Given the description of an element on the screen output the (x, y) to click on. 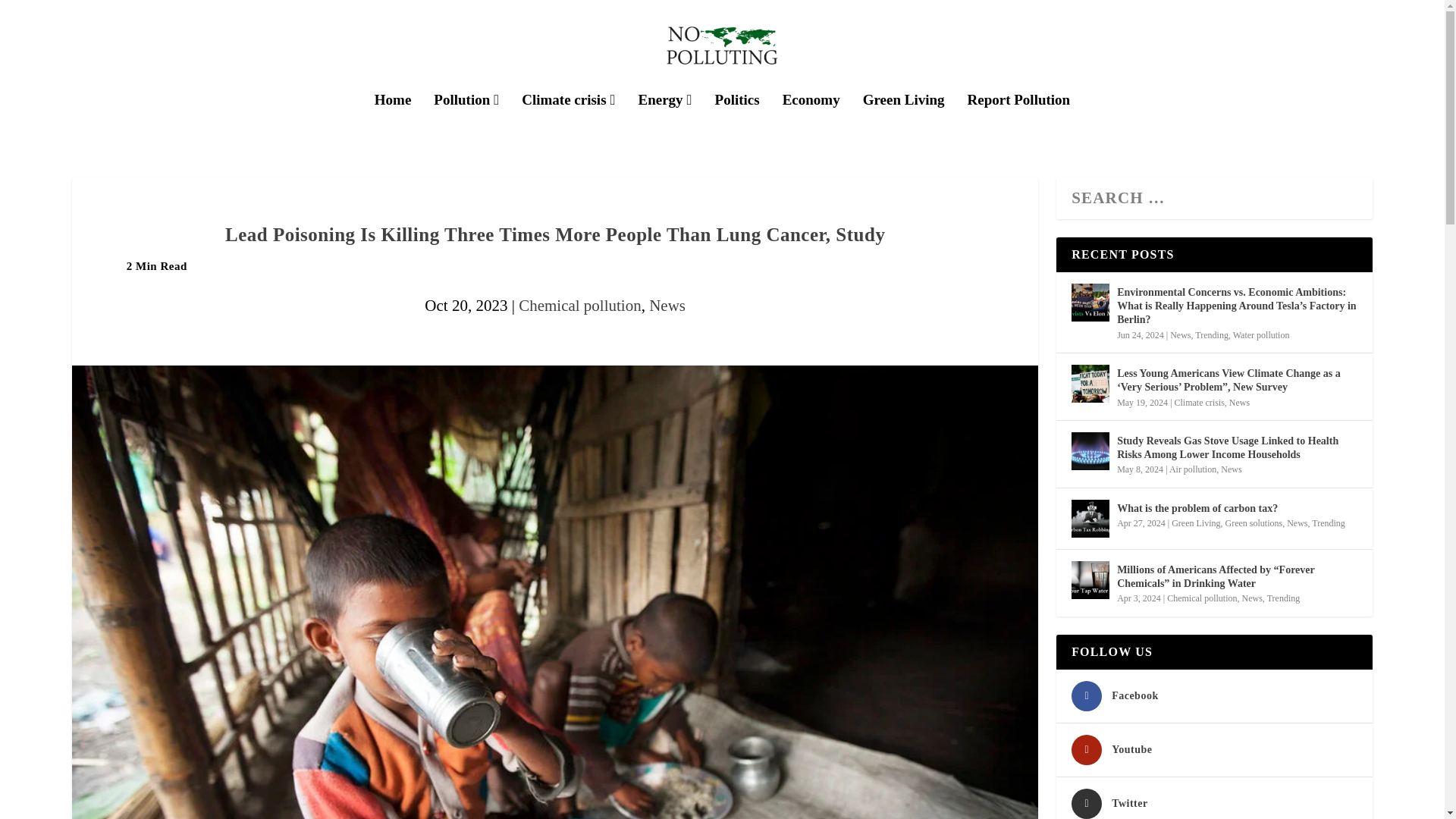
Energy (666, 120)
Green Living (903, 120)
Report Pollution (1019, 120)
Climate crisis (567, 120)
Economy (811, 120)
Pollution (466, 120)
